Given the description of an element on the screen output the (x, y) to click on. 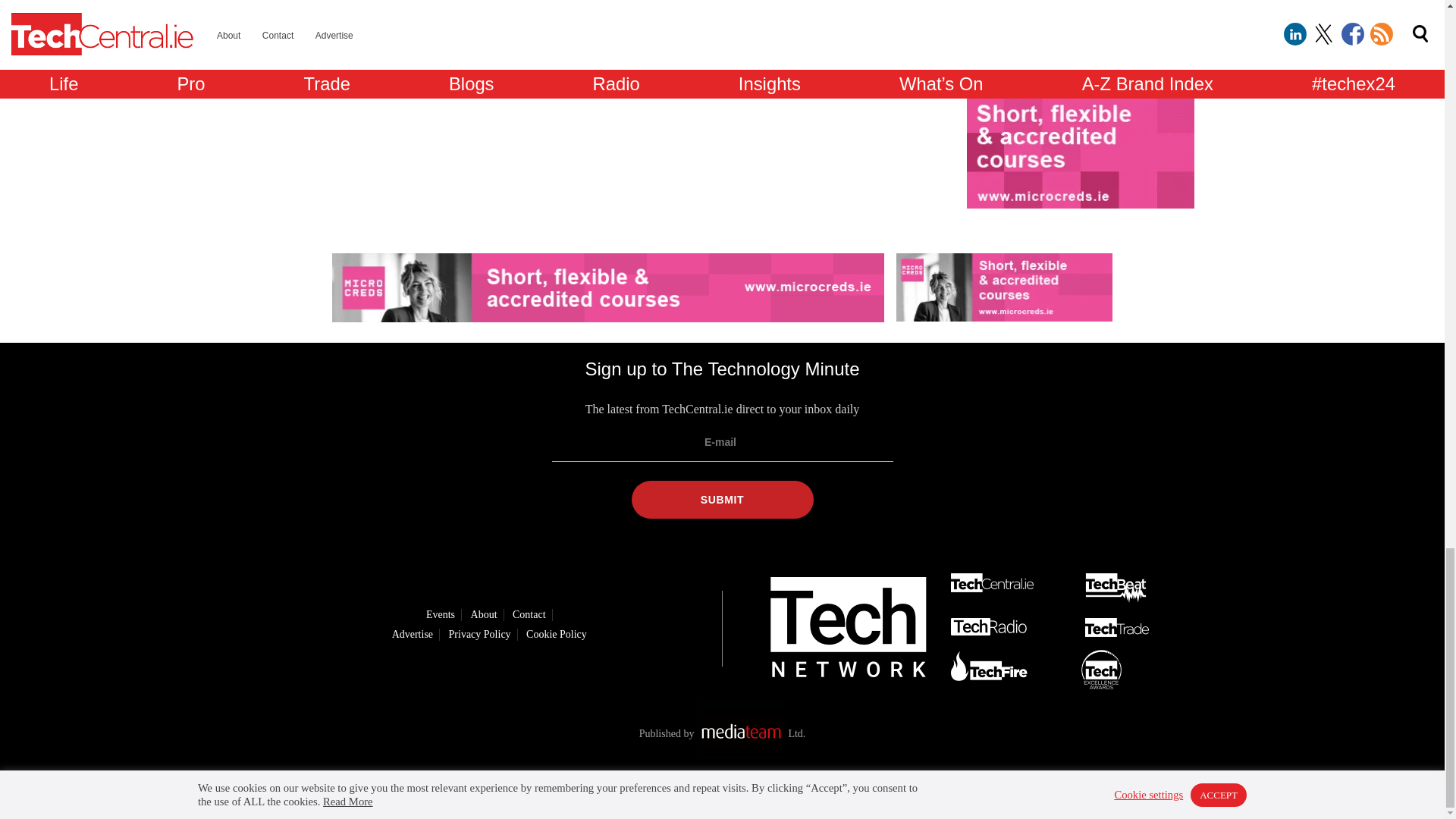
Follow on Twitter (698, 790)
Submit (721, 499)
Follow on LinkedIn (654, 790)
